Given the description of an element on the screen output the (x, y) to click on. 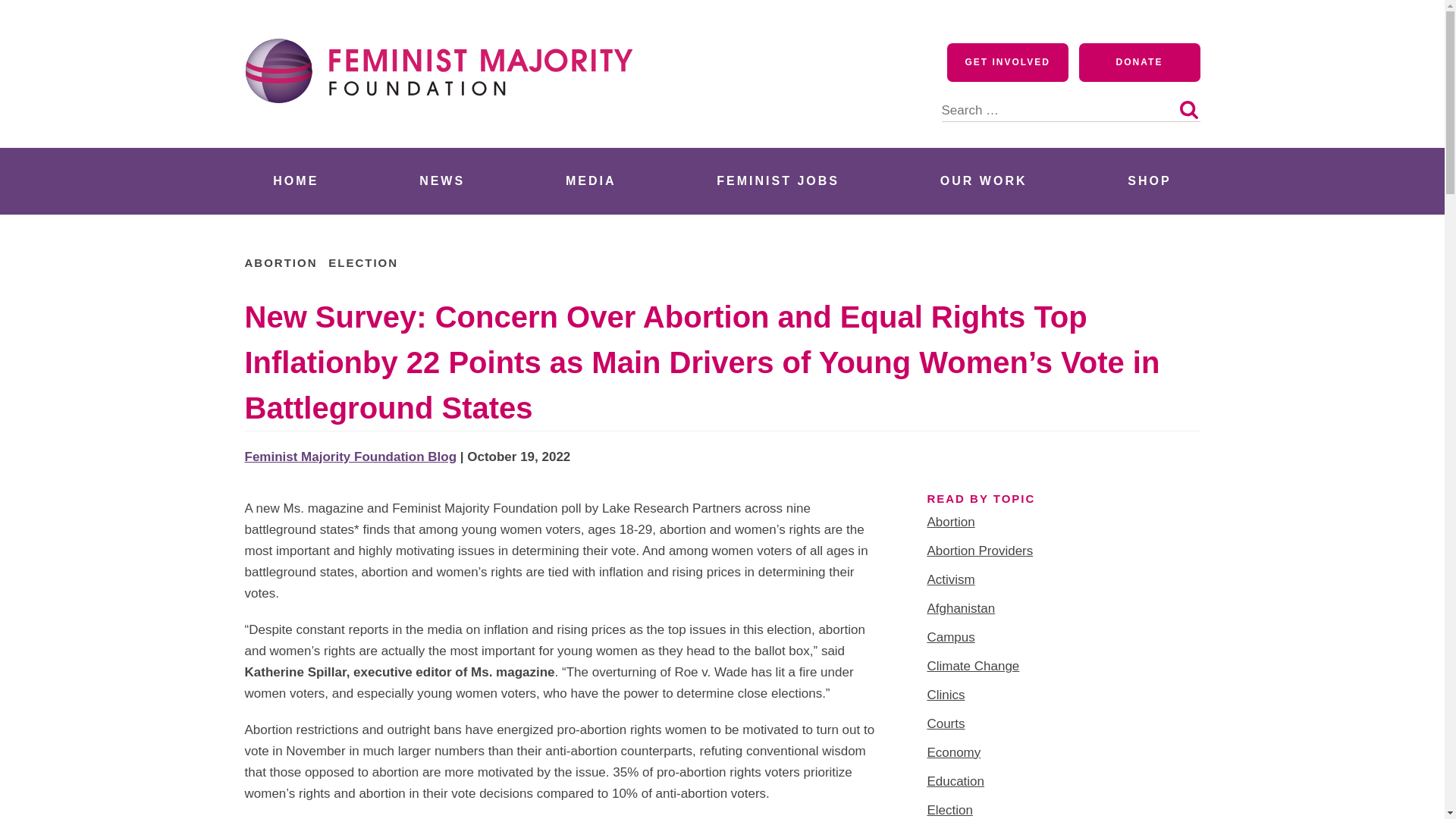
Abortion Providers (979, 550)
MEDIA (591, 181)
Search (1187, 109)
Search for: (1070, 101)
OUR WORK (983, 181)
Feminist Majority Foundation Blog (350, 456)
NEWS (441, 181)
Posts by Feminist Majority Foundation Blog (350, 456)
DONATE (1138, 62)
Abortion (950, 522)
